Given the description of an element on the screen output the (x, y) to click on. 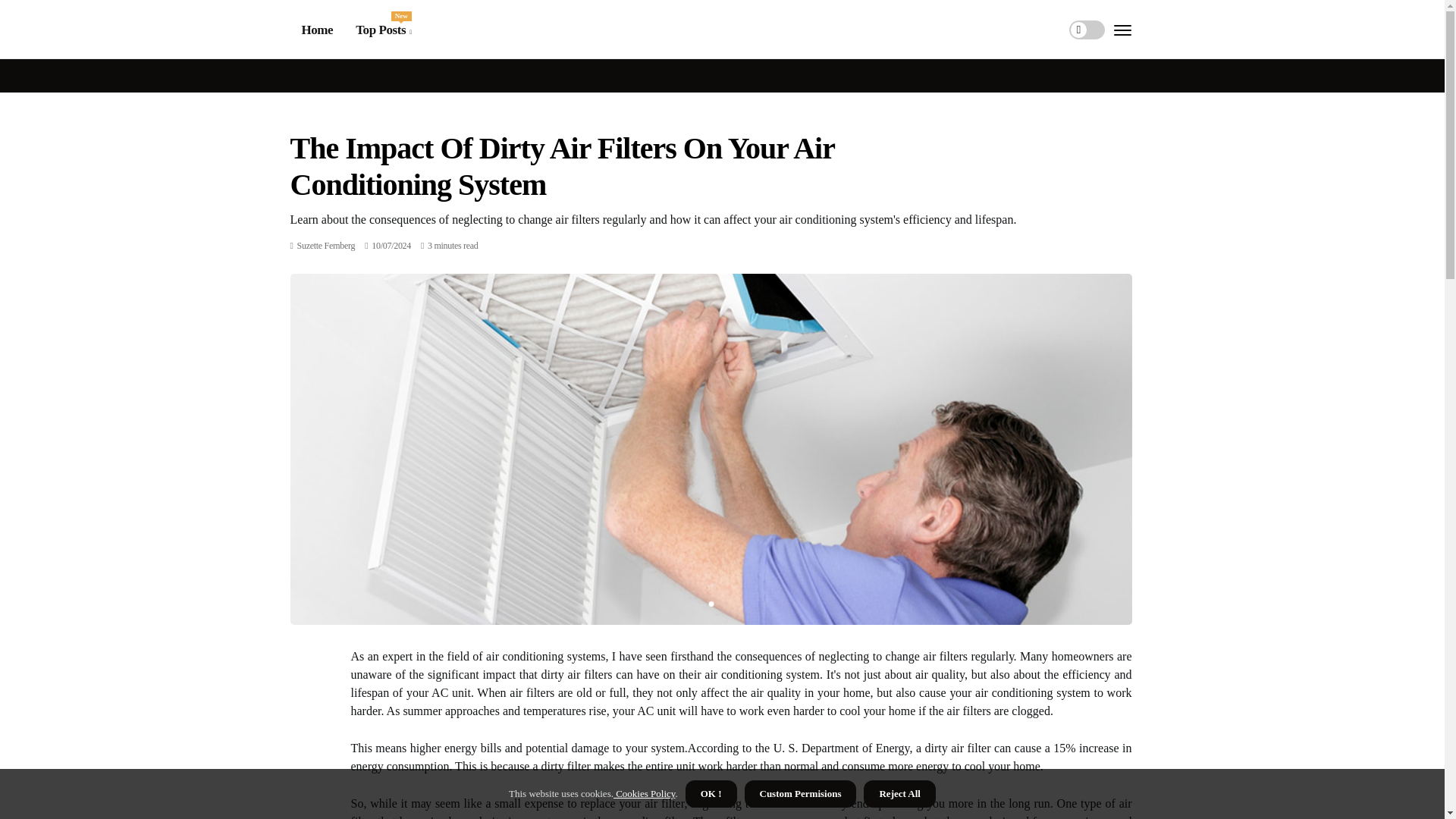
Posts by Suzette Fernberg (382, 30)
Suzette Fernberg (326, 245)
1 (326, 245)
